Given the description of an element on the screen output the (x, y) to click on. 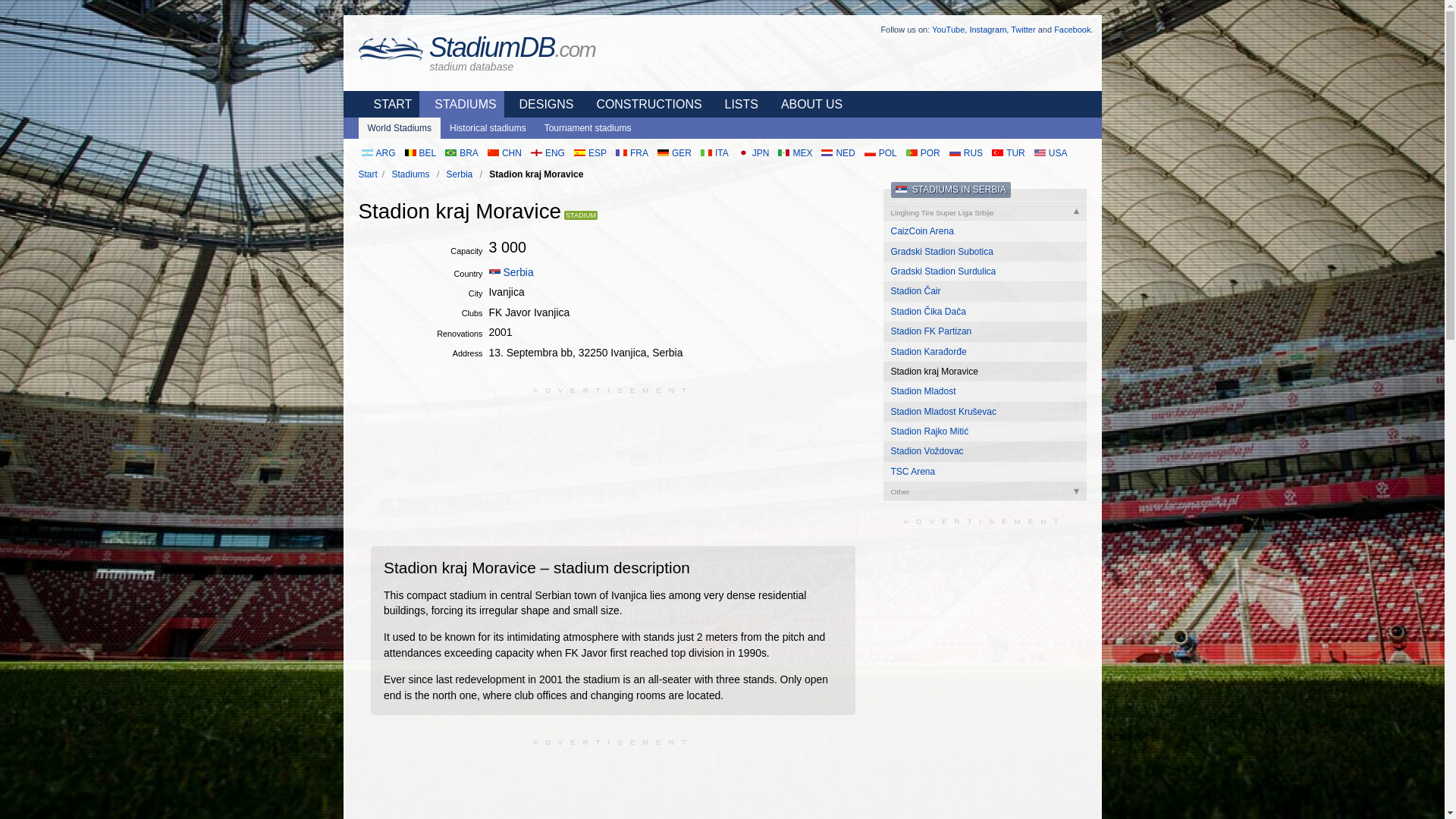
CONSTRUCTIONS (644, 103)
NED (837, 152)
TUR (1007, 152)
DESIGNS (541, 103)
BEL (420, 152)
ARG (377, 152)
GER (673, 152)
Advertisement (612, 783)
Facebook (1072, 29)
CHN (504, 152)
USA (1050, 152)
YouTube (947, 29)
ENG (547, 152)
ESP (590, 152)
LISTS (737, 103)
